Given the description of an element on the screen output the (x, y) to click on. 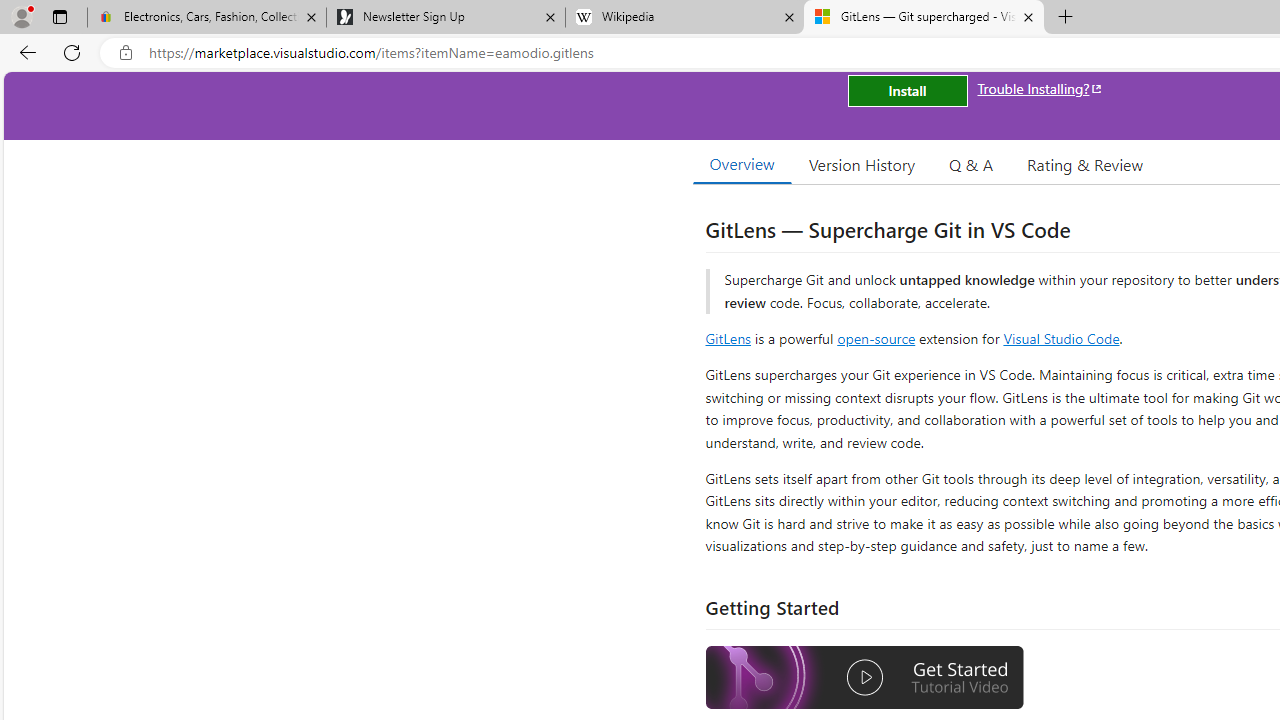
Version History (862, 164)
open-source (876, 337)
Visual Studio Code (1061, 337)
Install (907, 90)
Overview (742, 164)
Watch the GitLens Getting Started video (865, 678)
Newsletter Sign Up (445, 17)
Q & A (971, 164)
Watch the GitLens Getting Started video (865, 679)
